Given the description of an element on the screen output the (x, y) to click on. 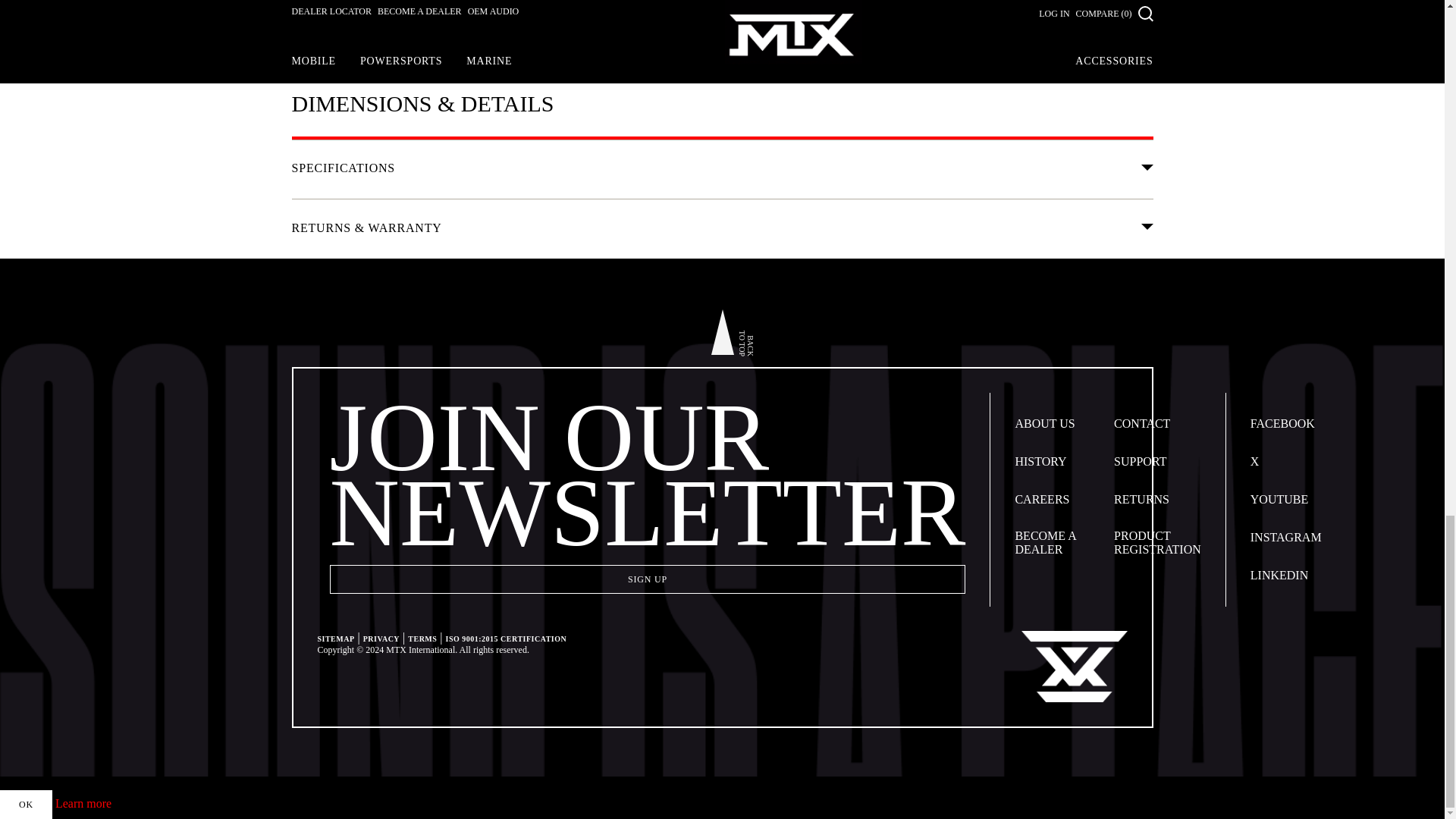
MTX Sitemap (335, 638)
